Given the description of an element on the screen output the (x, y) to click on. 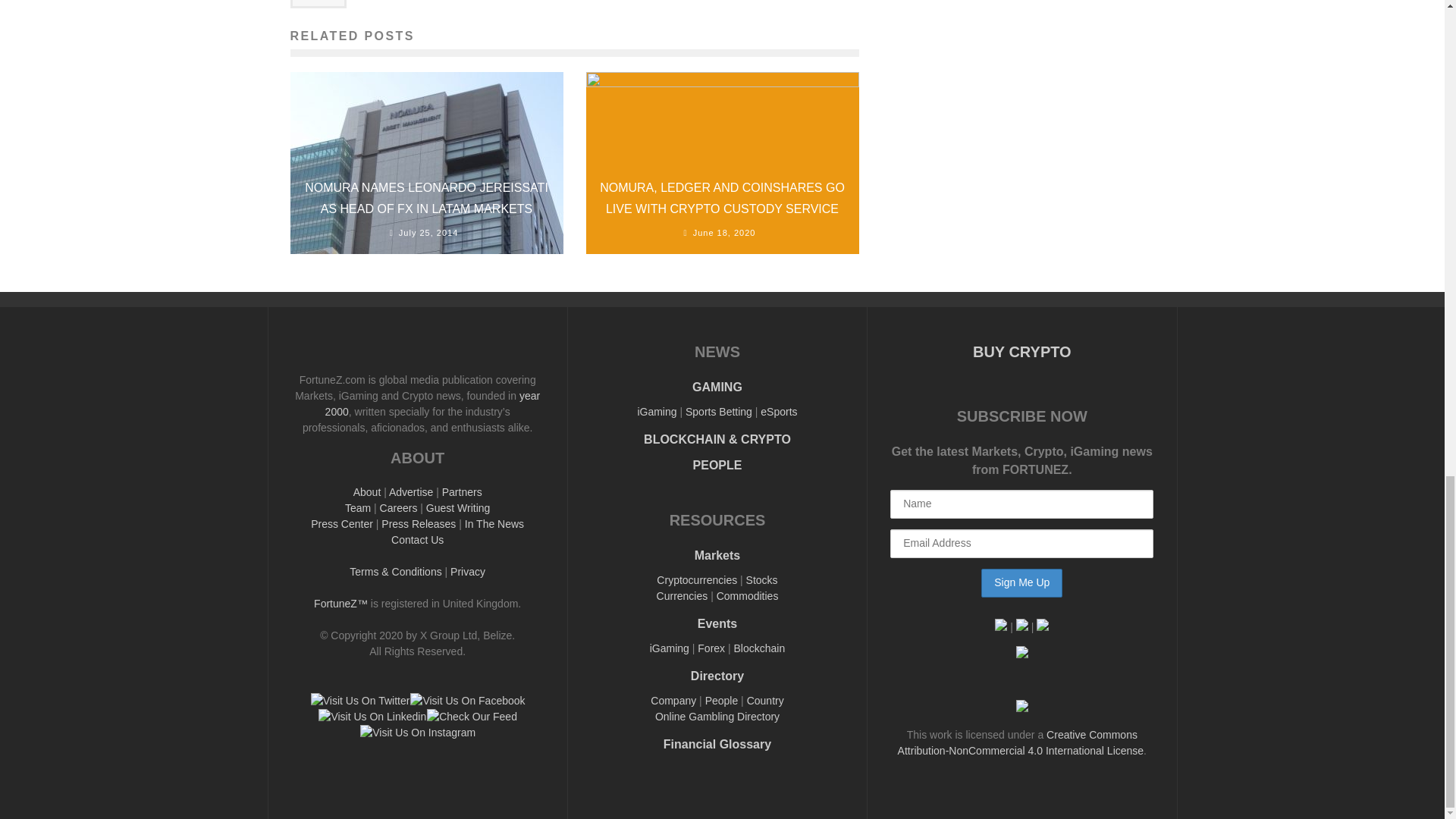
Visit Us On Facebook (466, 700)
Sign Me Up (1021, 582)
Visit Us On Twitter (360, 700)
Visit Us On Linkedin (371, 716)
